Given the description of an element on the screen output the (x, y) to click on. 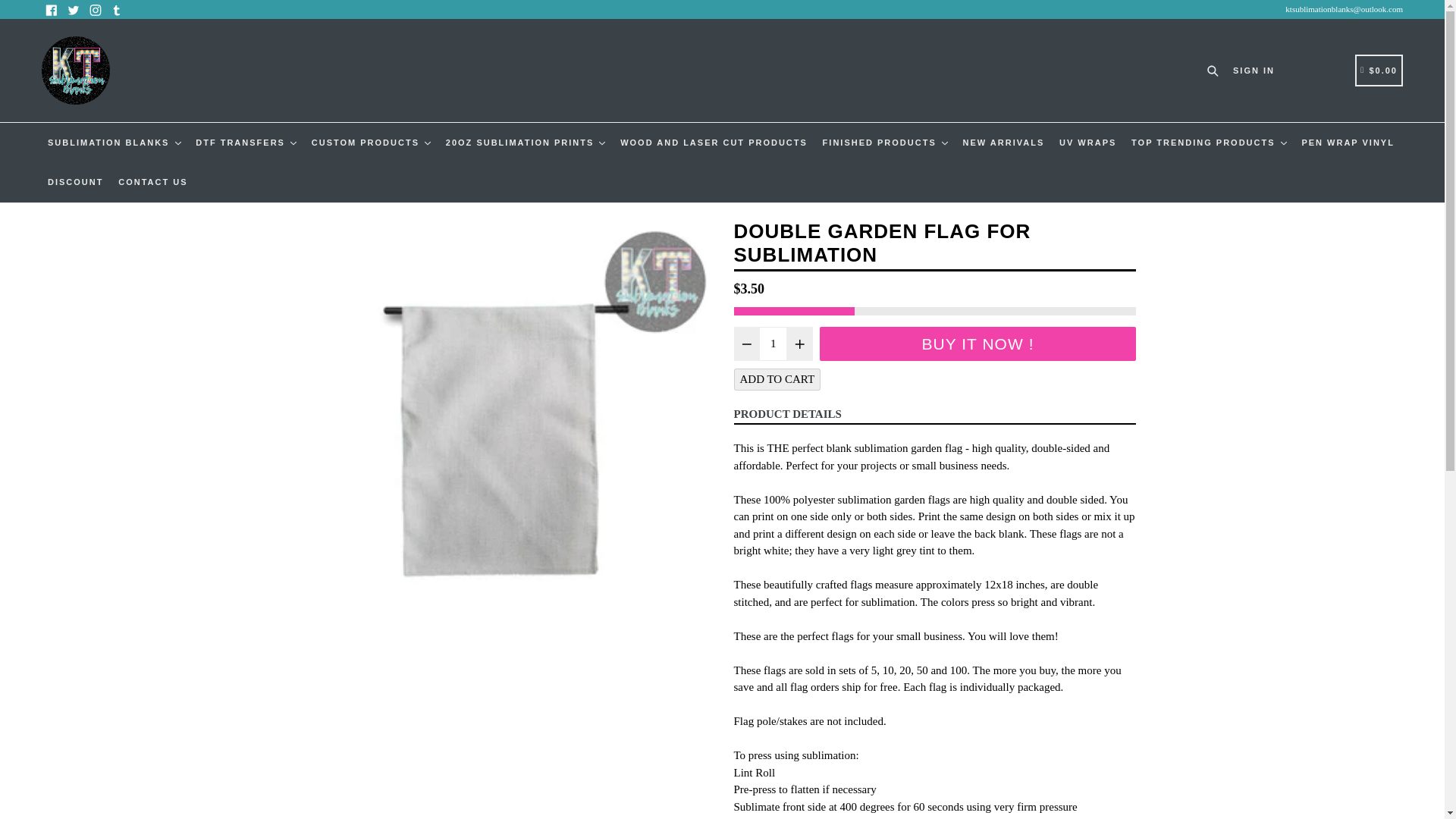
KT SUBLIMATION BLANKS AND MORE LLC on Tumblr (116, 9)
KT SUBLIMATION BLANKS AND MORE LLC on Instagram (94, 9)
KT SUBLIMATION BLANKS AND MORE LLC on Twitter (73, 9)
KT SUBLIMATION BLANKS AND MORE LLC on Facebook (51, 9)
